Given the description of an element on the screen output the (x, y) to click on. 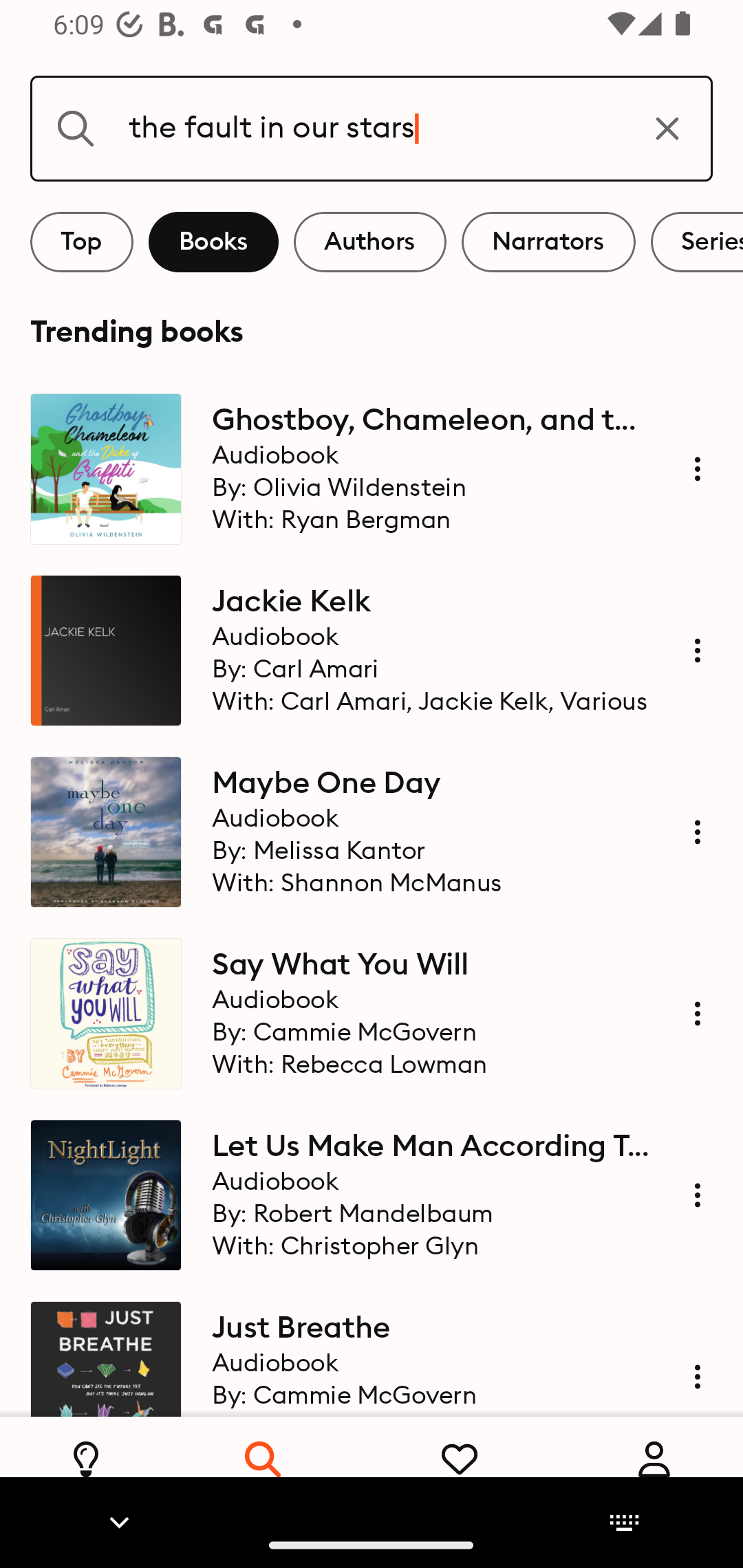
the fault in our stars (371, 128)
Top (81, 241)
Books (213, 241)
Authors (369, 241)
Narrators (548, 241)
Series (696, 241)
